Given the description of an element on the screen output the (x, y) to click on. 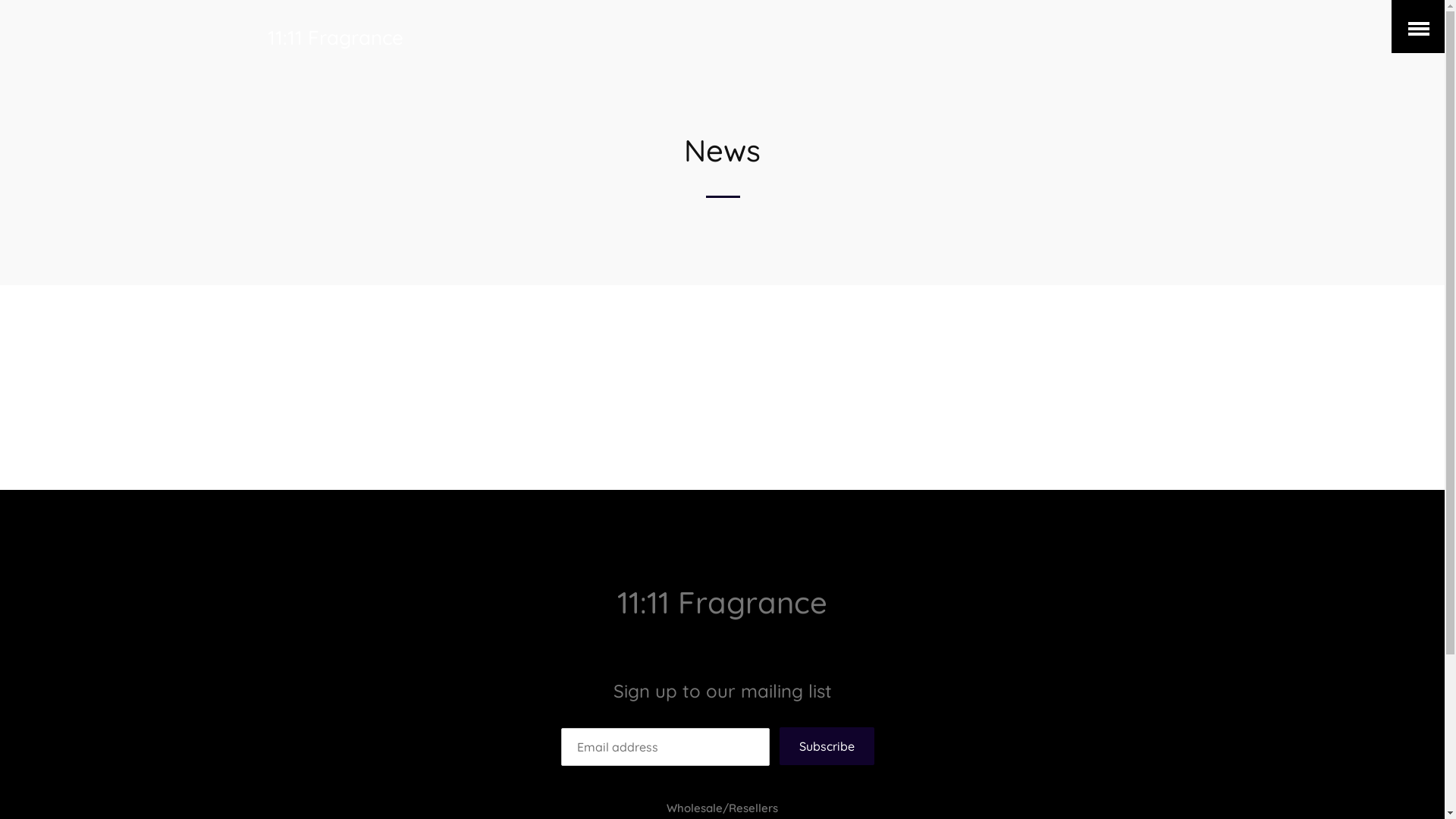
Subscribe Element type: text (826, 746)
Open Menu Element type: text (1417, 26)
11:11 Fragrance Element type: text (334, 37)
11:11 Fragrance Element type: text (722, 602)
Wholesale/Resellers Element type: text (722, 807)
